Given the description of an element on the screen output the (x, y) to click on. 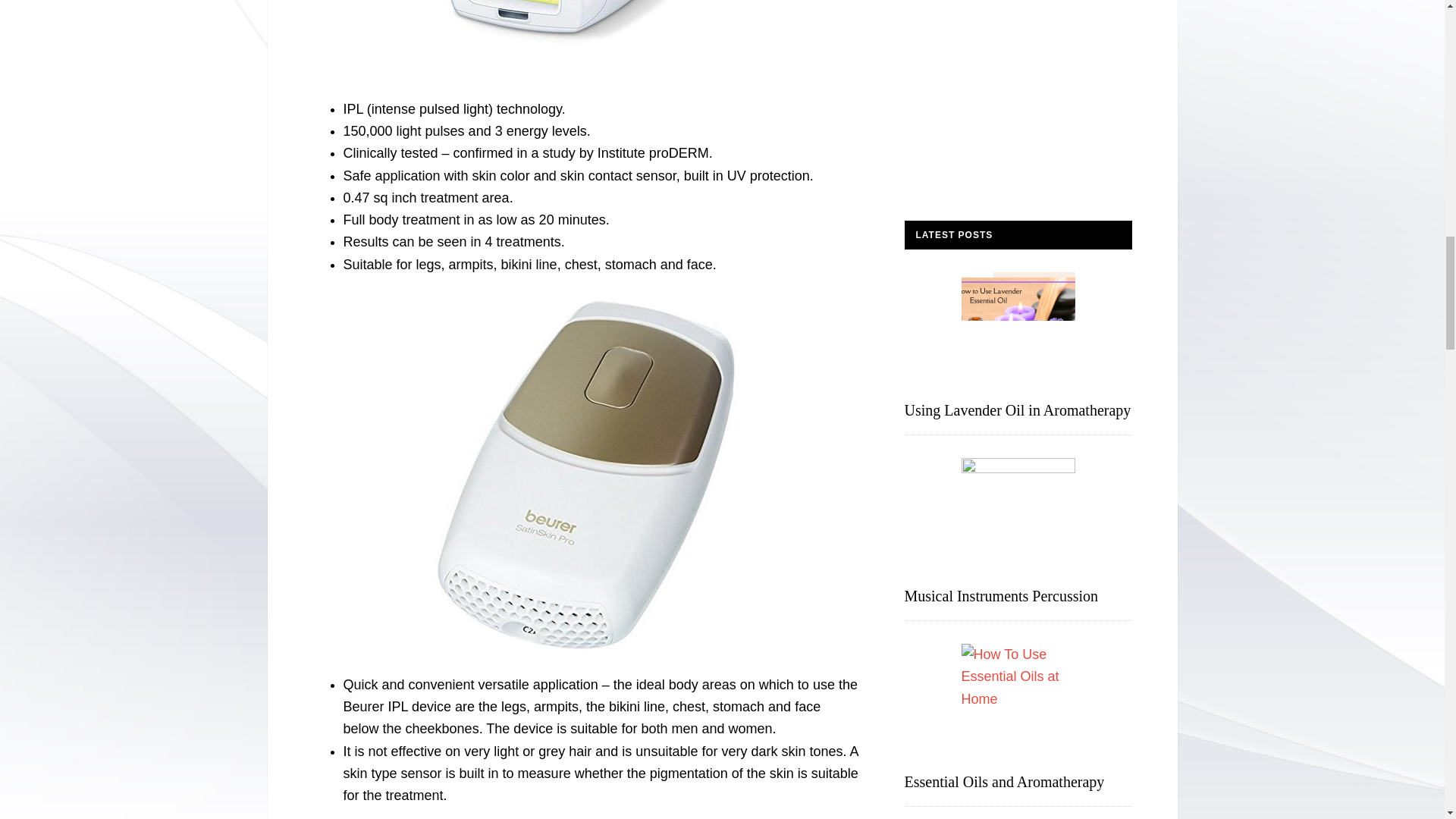
Musical Instruments Percussion (1000, 596)
Essential Oils and Aromatherapy (1003, 781)
Using Lavender Oil in Aromatherapy (1017, 410)
